Given the description of an element on the screen output the (x, y) to click on. 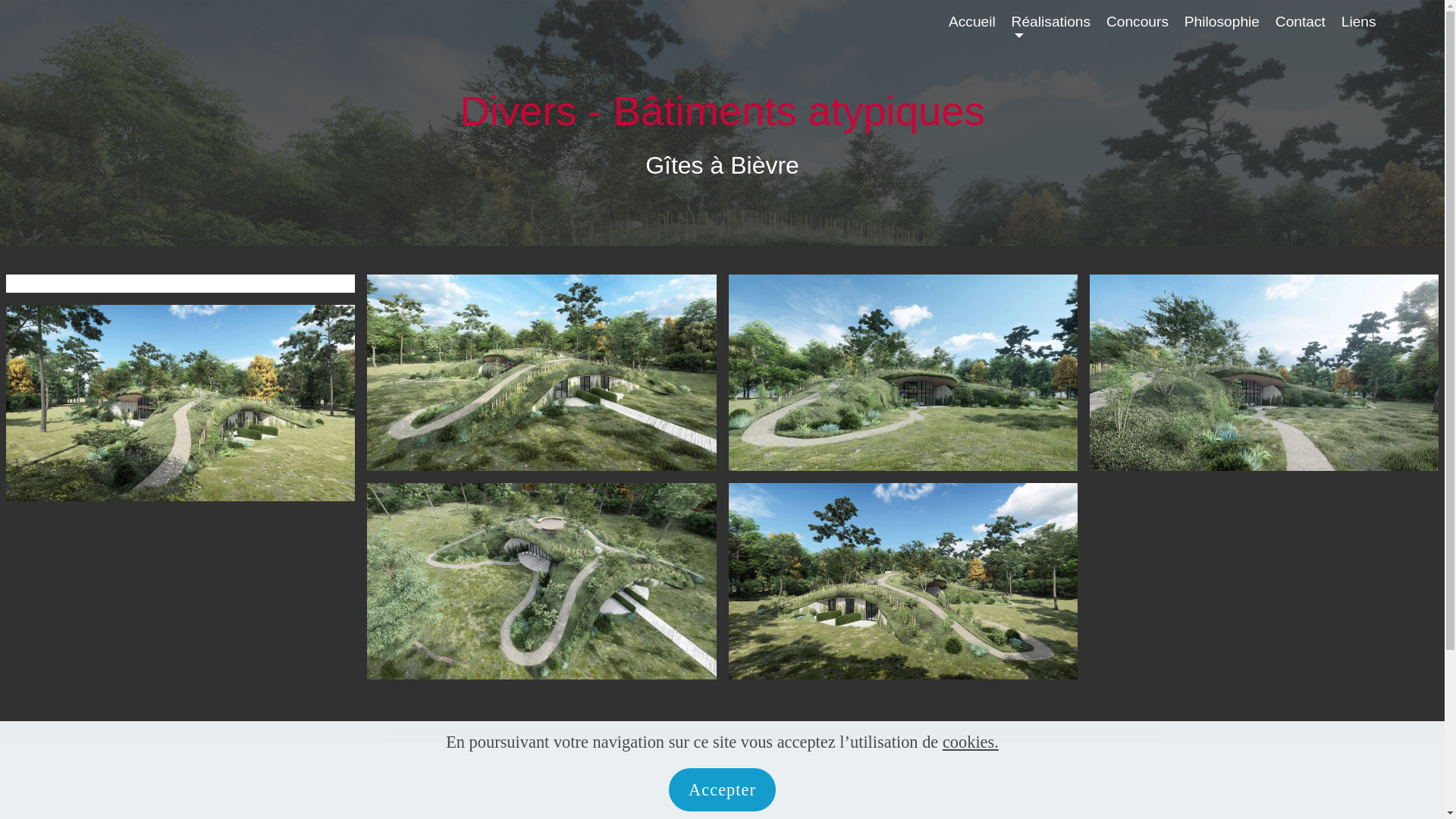
Accueil Element type: text (971, 29)
Accepter Element type: text (721, 789)
Concours Element type: text (1137, 29)
cookies. Element type: text (970, 741)
Liens Element type: text (1358, 29)
Contact Element type: text (1300, 29)
Philosophie Element type: text (1221, 29)
